Given the description of an element on the screen output the (x, y) to click on. 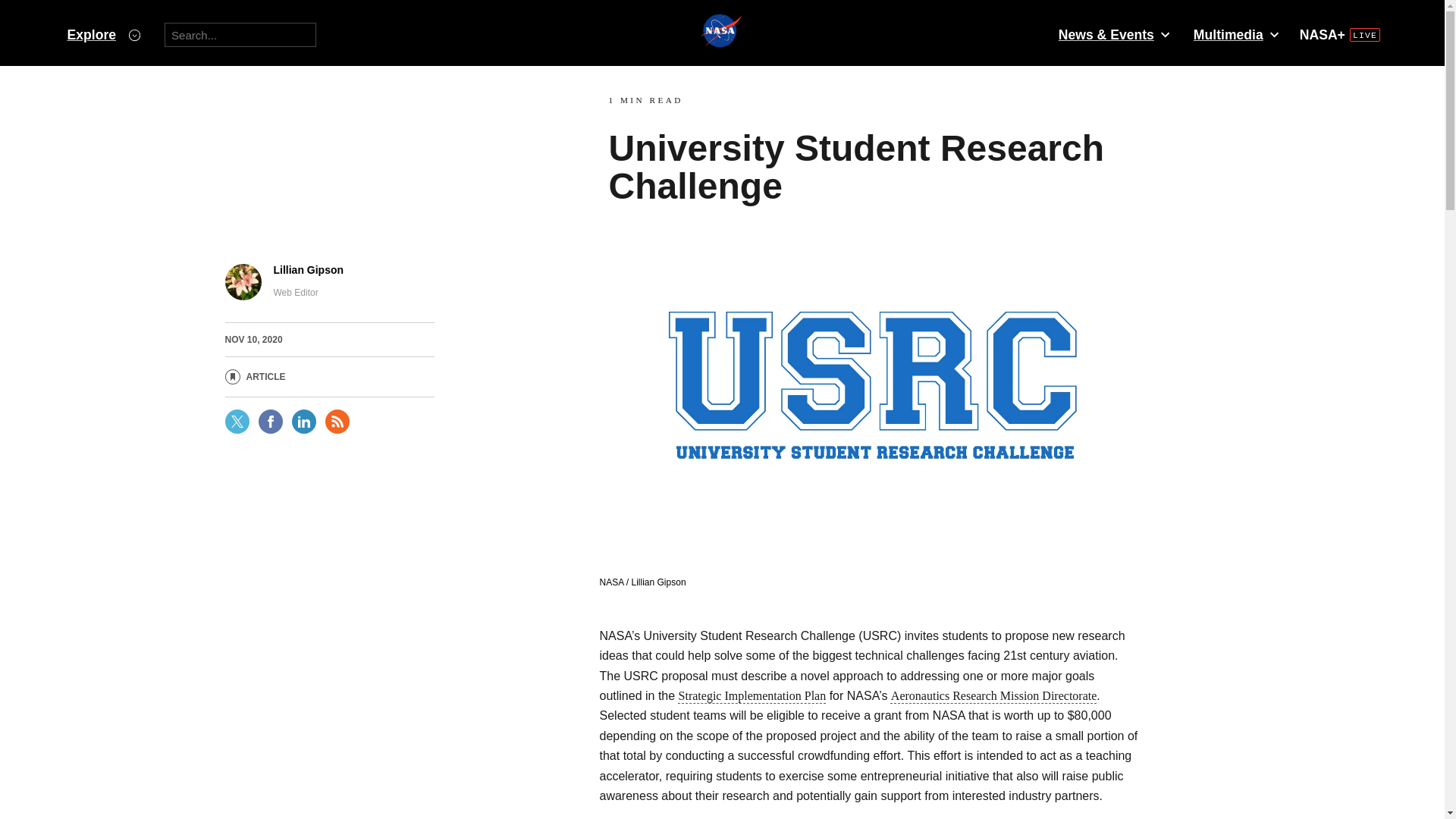
Multimedia (1235, 35)
Strategic Implementation Plan (752, 695)
Aeronautics Research Mission Directorate (993, 695)
Explore (103, 35)
